Given the description of an element on the screen output the (x, y) to click on. 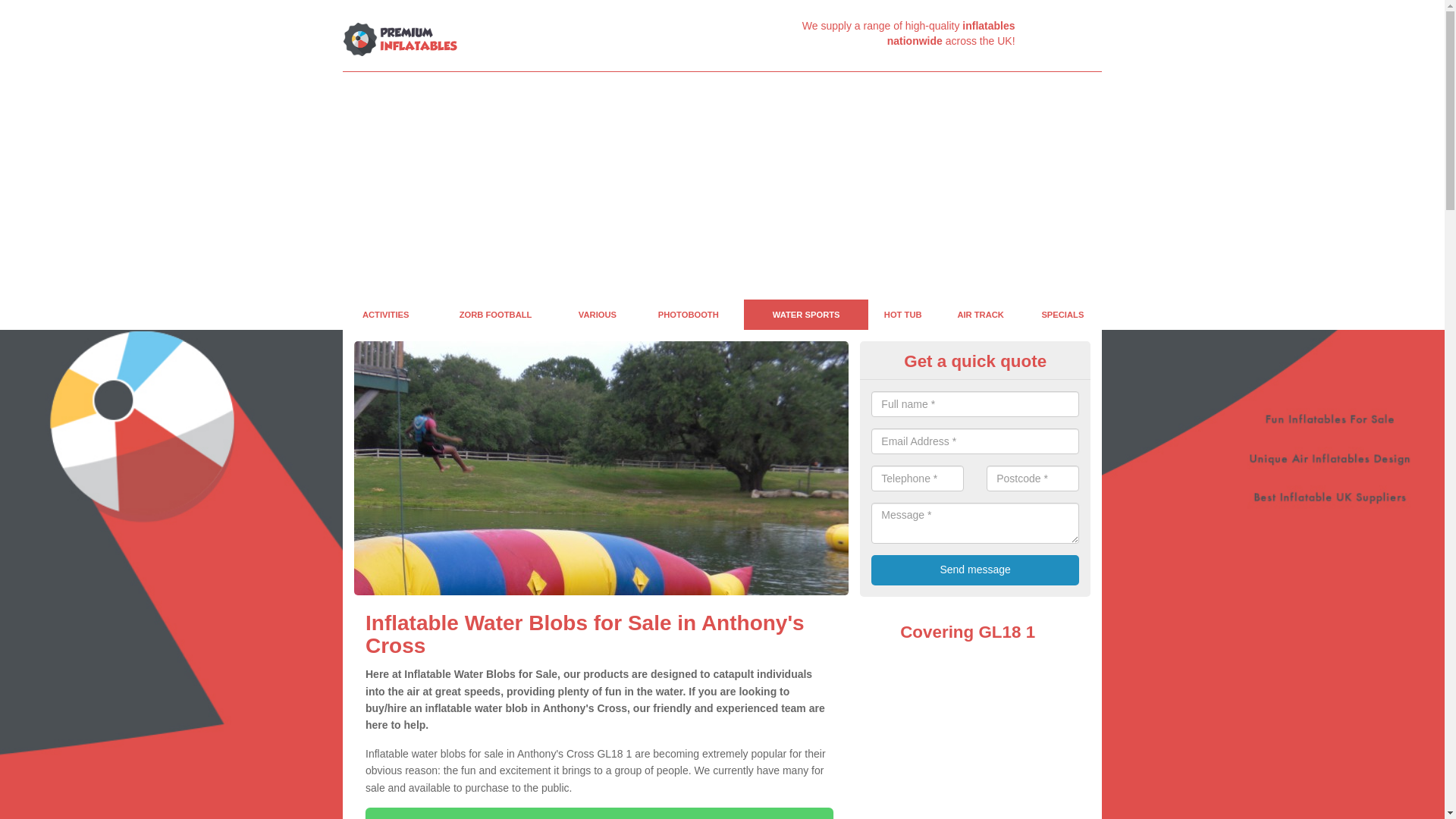
ACTIVITIES (385, 314)
HOT TUB (902, 314)
ZORB FOOTBALL (495, 314)
VARIOUS (596, 314)
Send message (974, 570)
SPECIALS (1062, 314)
AIR TRACK (980, 314)
Header (400, 39)
WATER SPORTS (805, 314)
PHOTOBOOTH (687, 314)
